Given the description of an element on the screen output the (x, y) to click on. 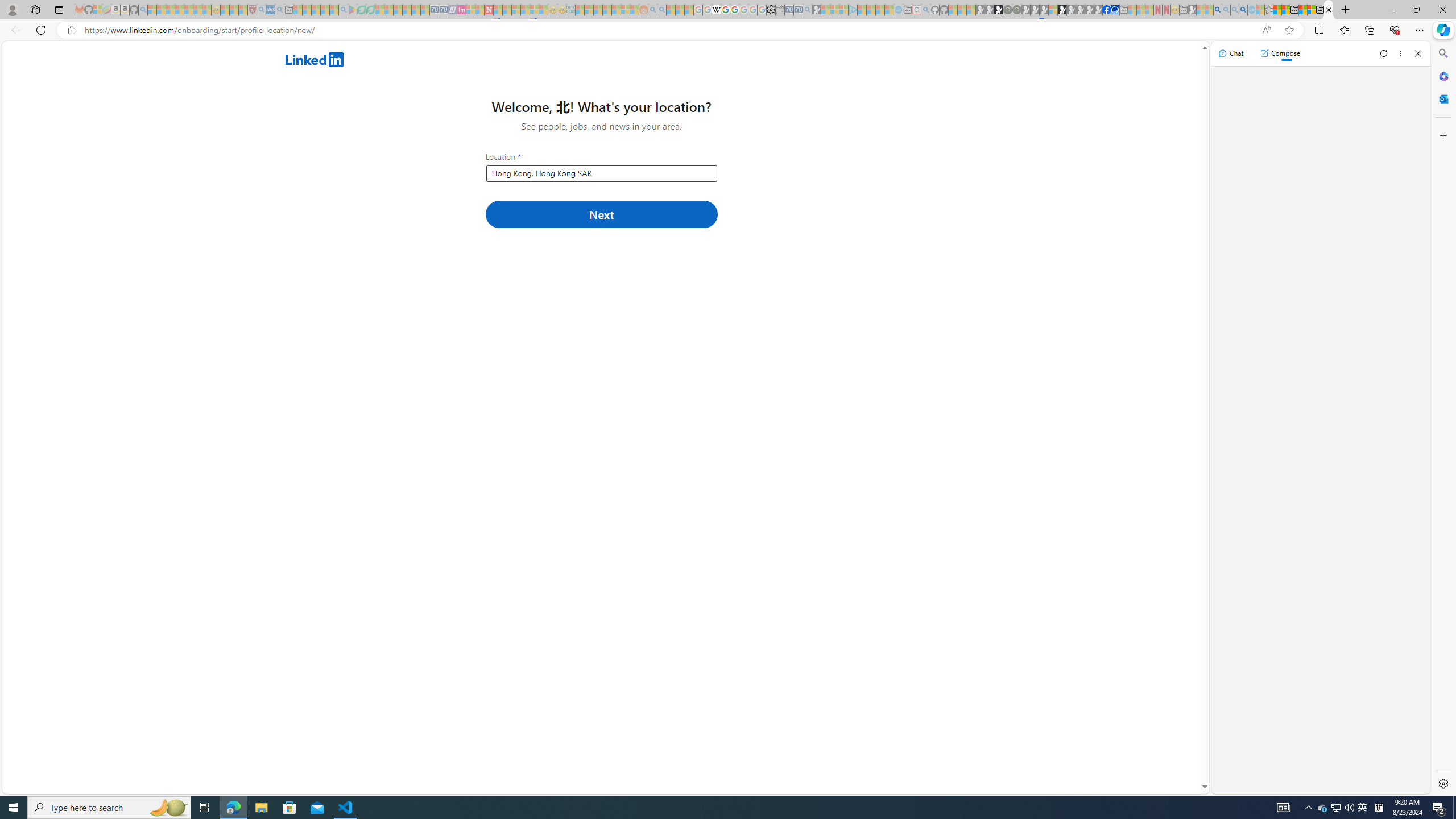
MSNBC - MSN - Sleeping (579, 9)
Jobs - lastminute.com Investor Portal - Sleeping (461, 9)
github - Search - Sleeping (924, 9)
Expert Portfolios - Sleeping (606, 9)
DITOGAMES AG Imprint - Sleeping (570, 9)
Nordace | Facebook (1106, 9)
